Given the description of an element on the screen output the (x, y) to click on. 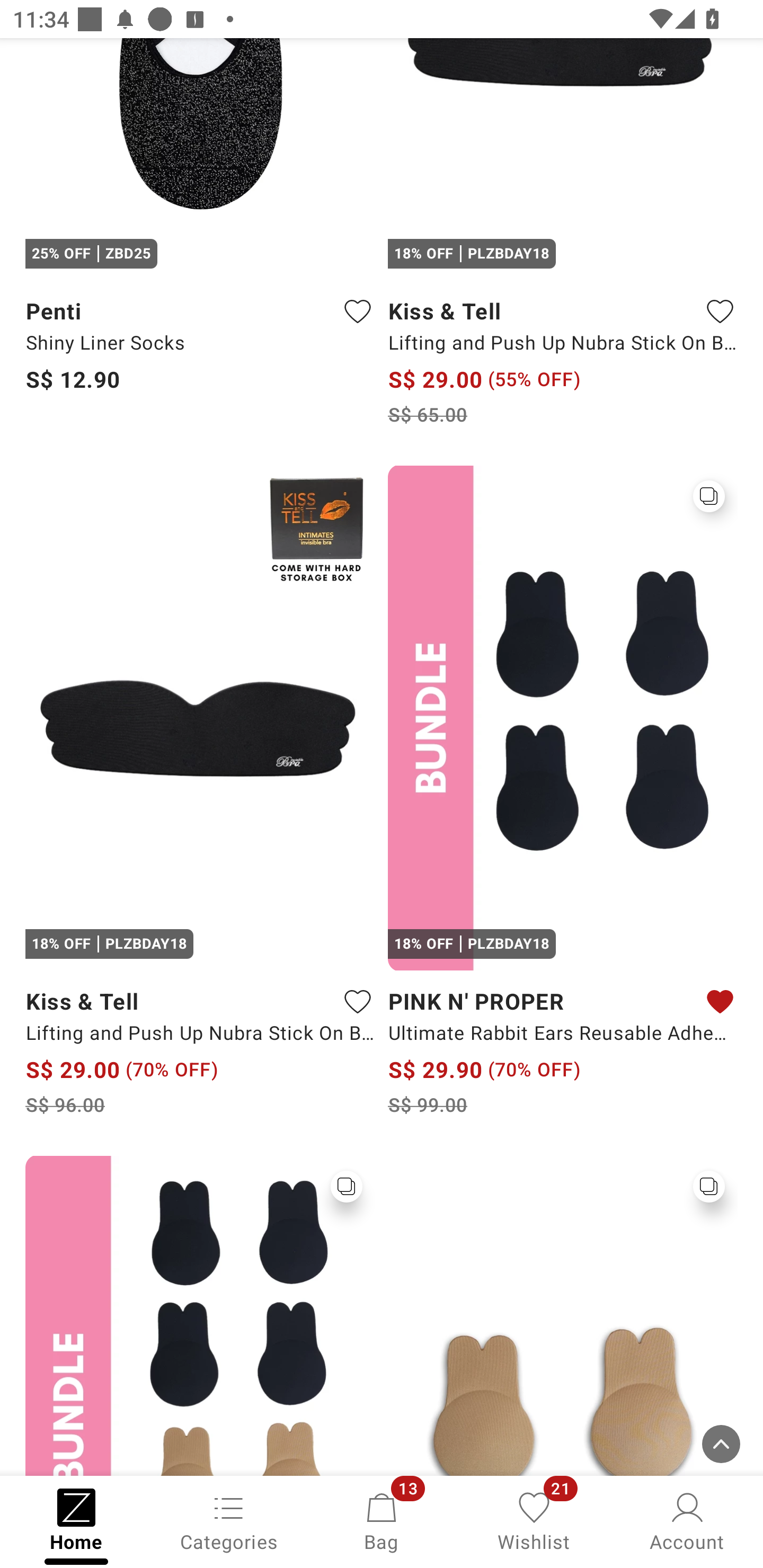
Categories (228, 1519)
Bag, 13 new notifications Bag (381, 1519)
Wishlist, 21 new notifications Wishlist (533, 1519)
Account (686, 1519)
